Given the description of an element on the screen output the (x, y) to click on. 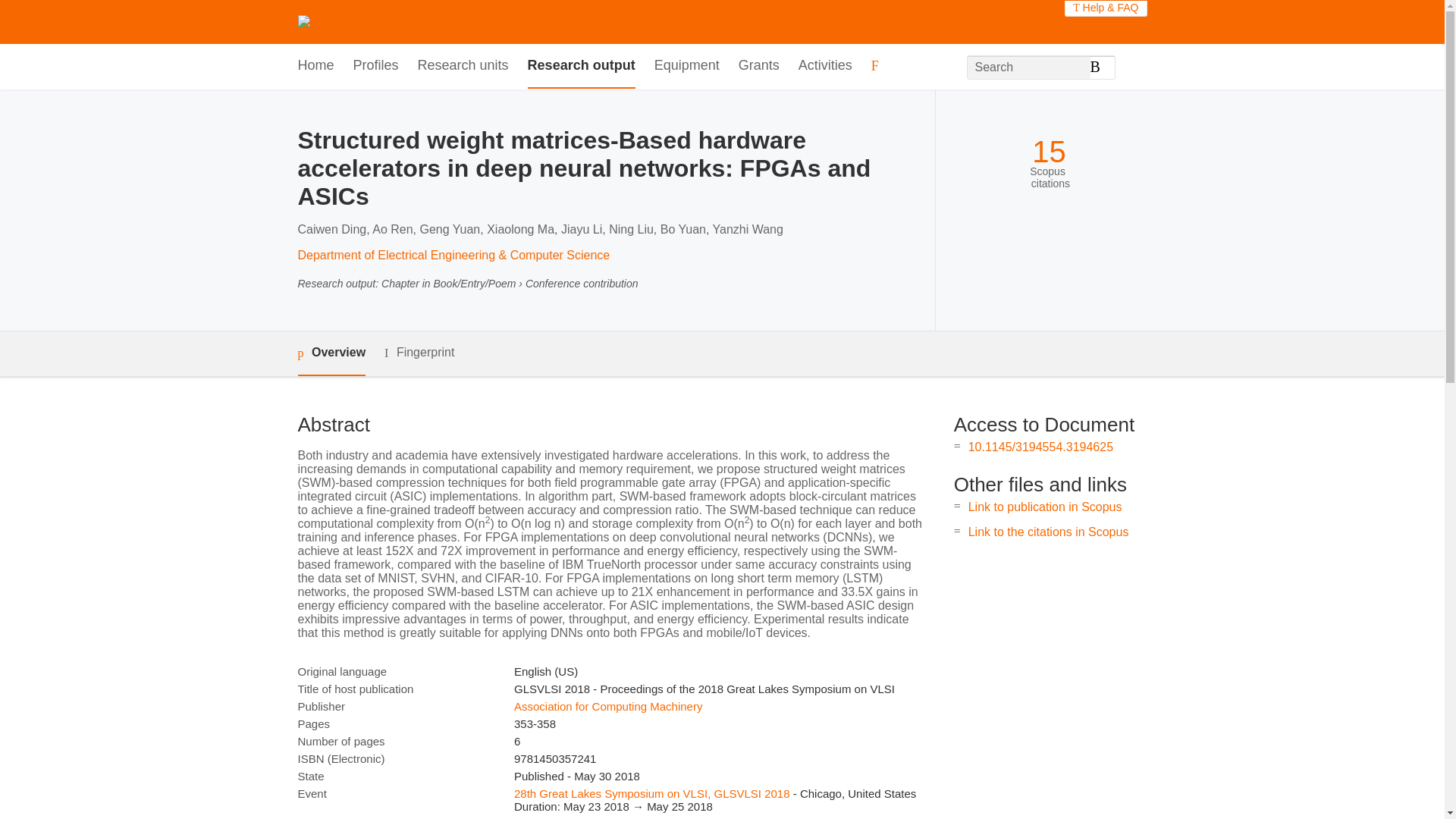
Association for Computing Machinery (607, 706)
15 (1048, 151)
Fingerprint (419, 352)
Activities (824, 66)
Link to the citations in Scopus (1048, 531)
Research units (462, 66)
Equipment (686, 66)
28th Great Lakes Symposium on VLSI, GLSVLSI 2018 (651, 793)
Grants (758, 66)
